Given the description of an element on the screen output the (x, y) to click on. 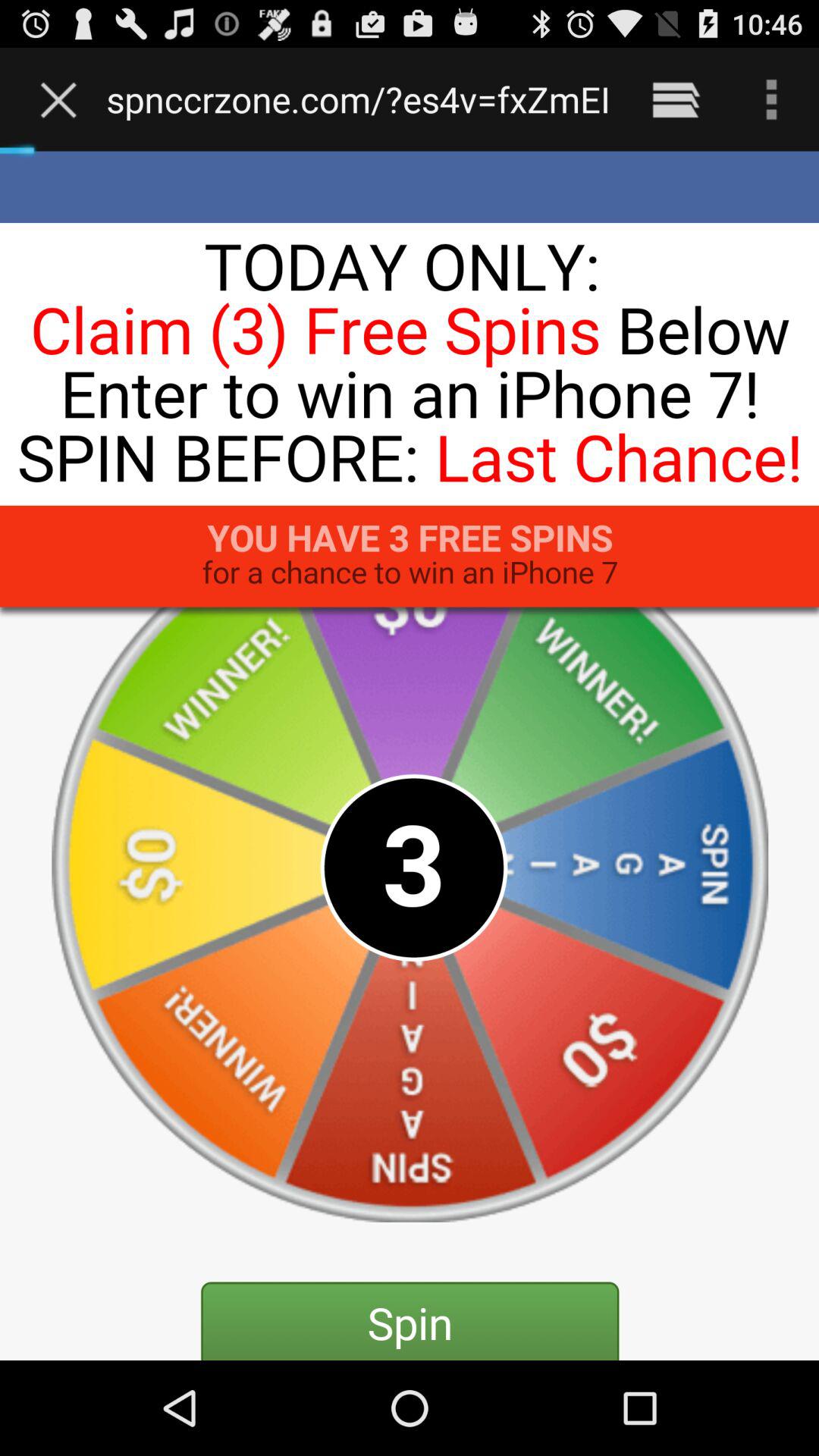
select icon at the top left corner (62, 99)
